Given the description of an element on the screen output the (x, y) to click on. 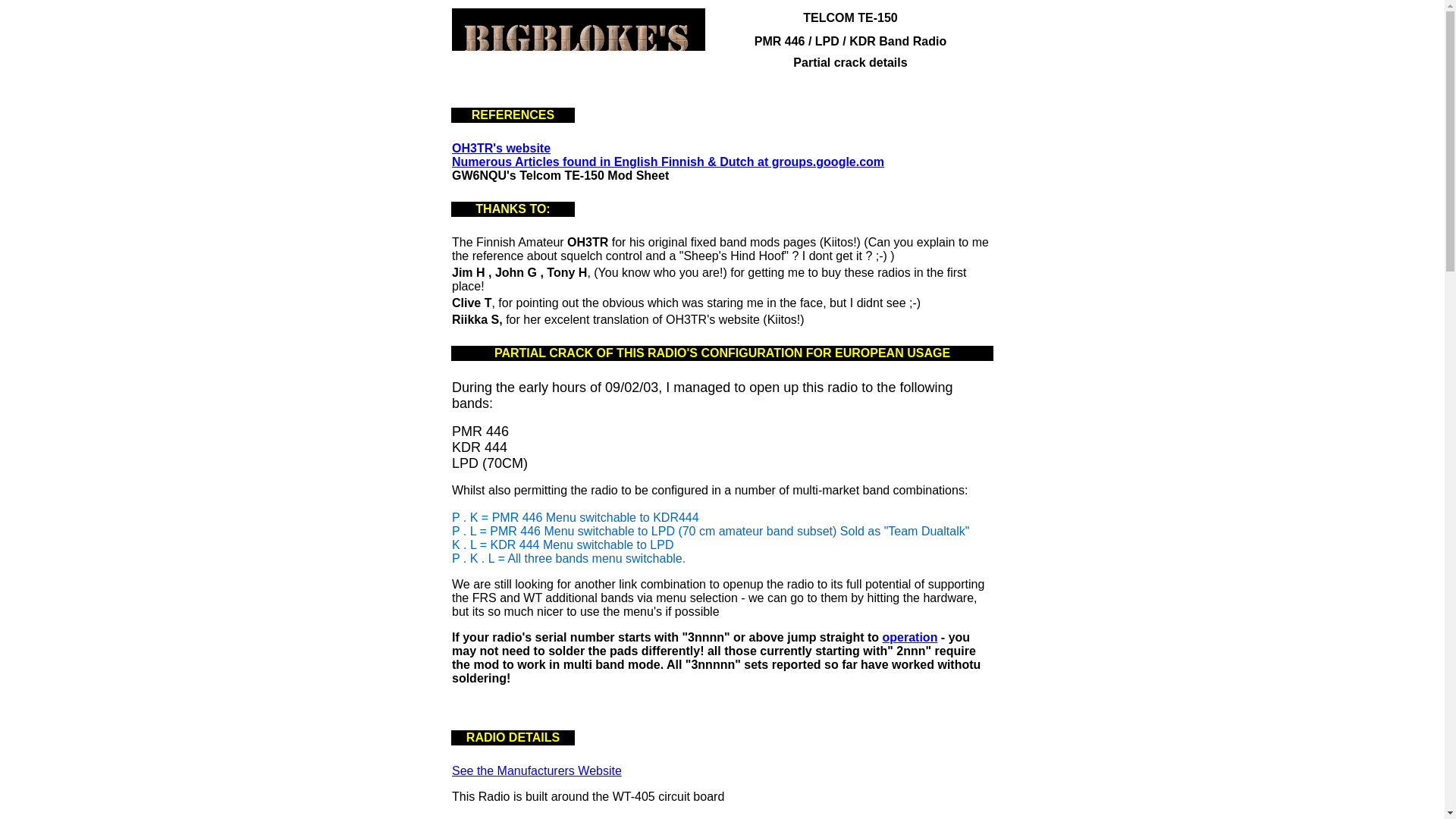
See the Manufacturers Website (536, 770)
operation (909, 636)
OH3TR's website (500, 147)
